Given the description of an element on the screen output the (x, y) to click on. 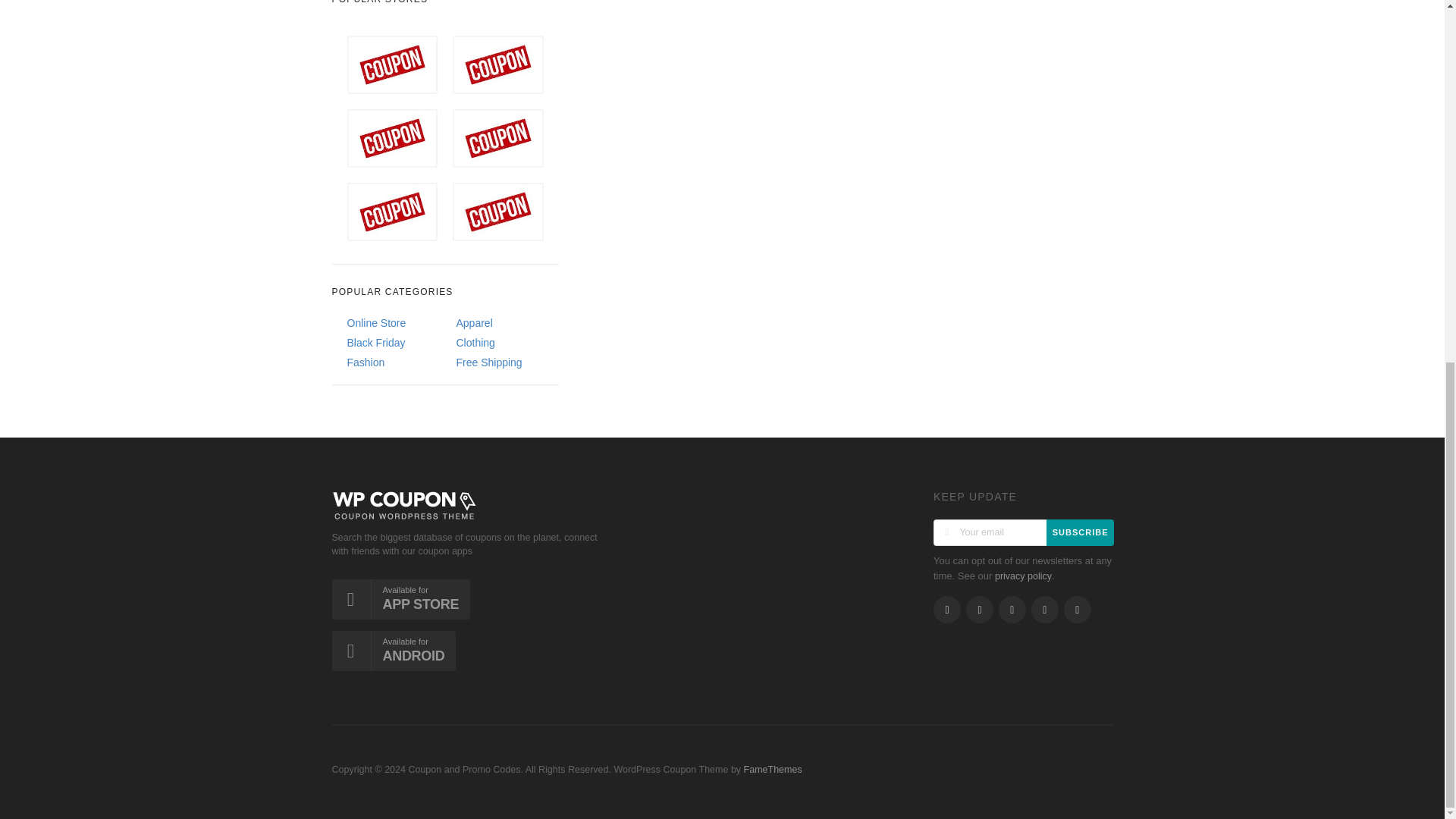
Black Friday (391, 343)
Fashion (391, 362)
Online Store (391, 323)
Clothing (499, 343)
Apparel (499, 323)
Free Shipping (499, 362)
